Given the description of an element on the screen output the (x, y) to click on. 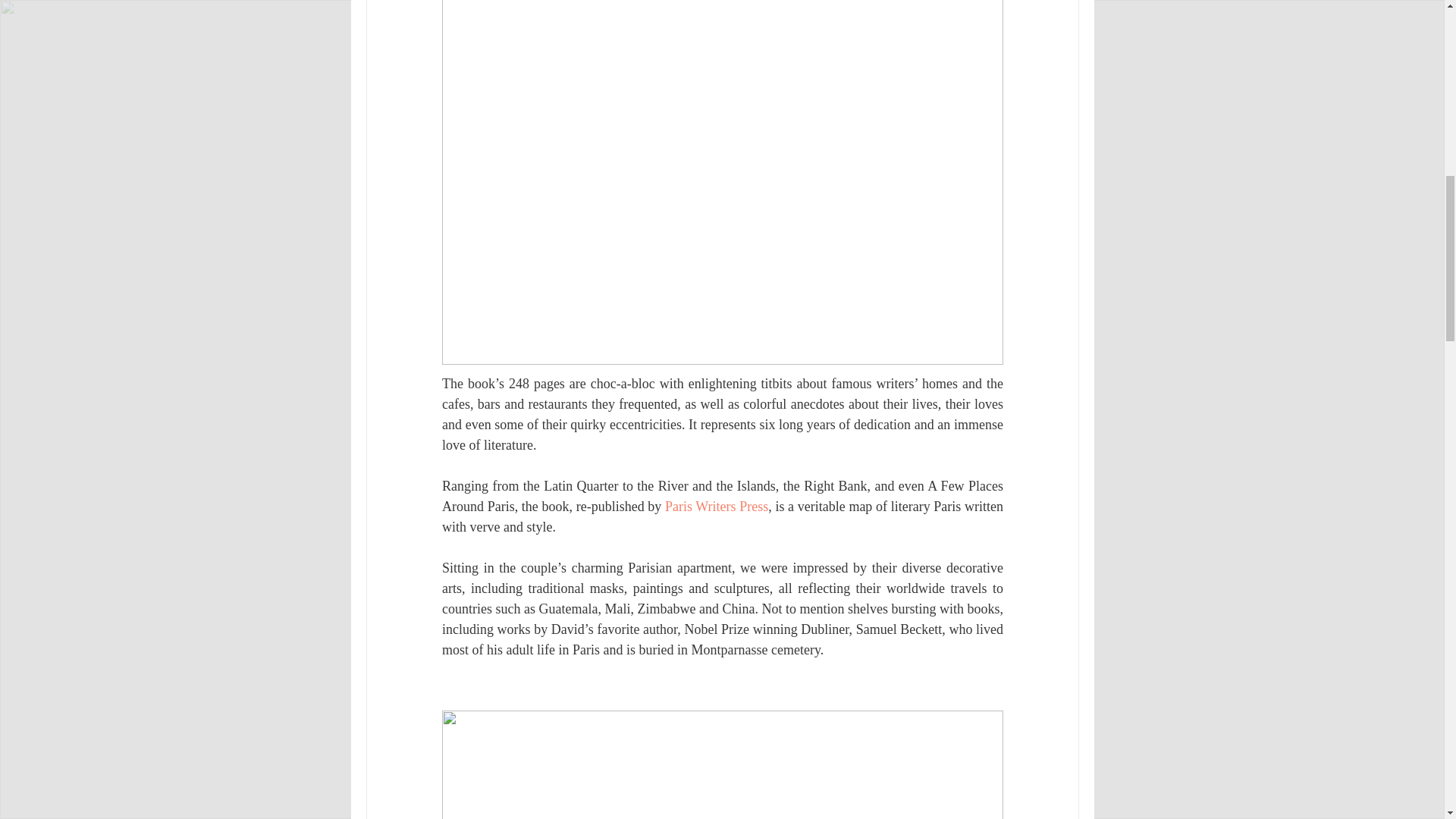
Paris Writers Press (715, 506)
